Given the description of an element on the screen output the (x, y) to click on. 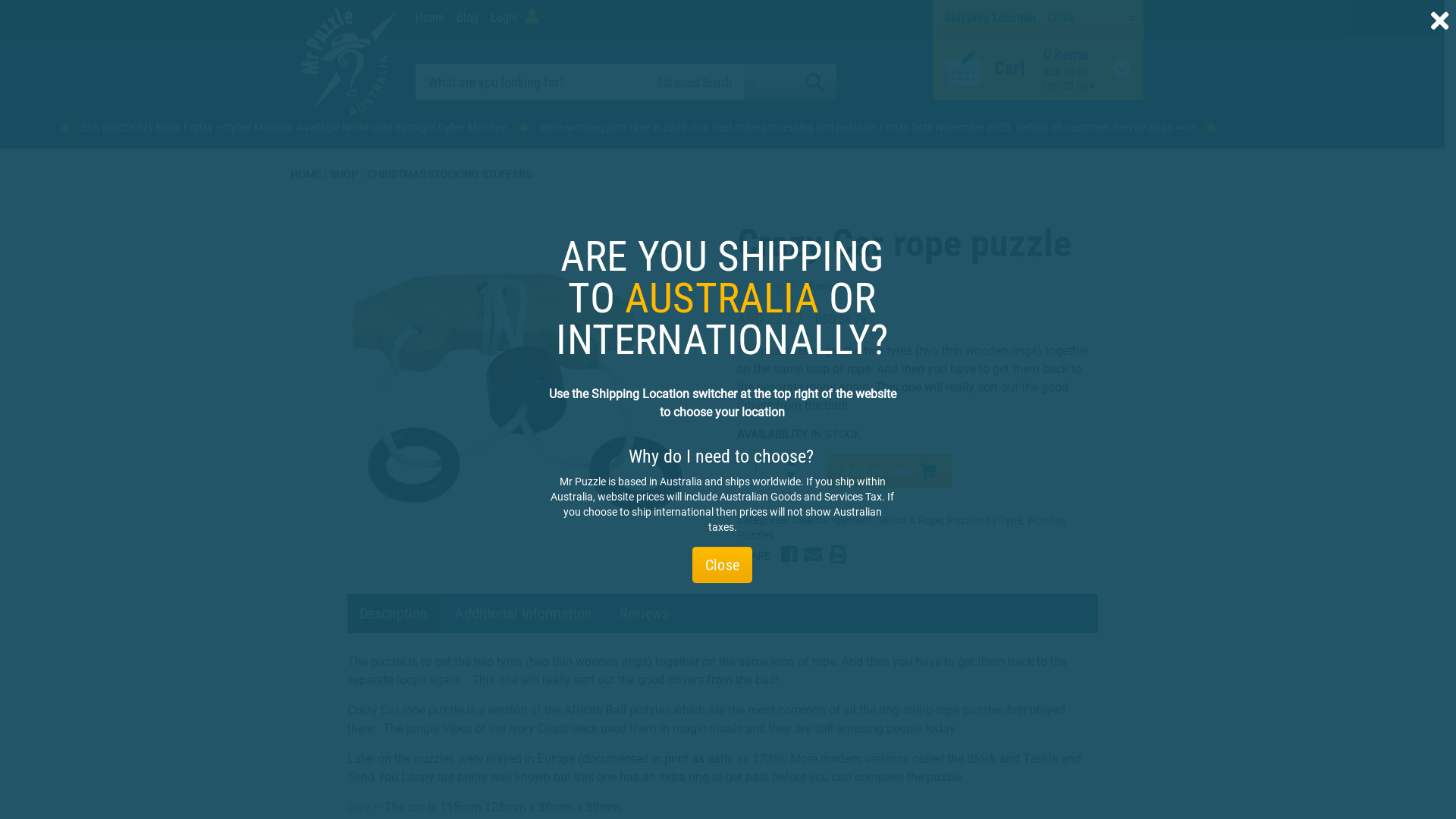
SHOP Element type: text (343, 174)
Home Element type: text (432, 18)
Login Element type: text (513, 18)
4182 Element type: hover (516, 391)
Reviews Element type: text (643, 613)
Additional Information Element type: text (523, 613)
Add to cart Element type: text (889, 471)
CHRISTMAS STOCKING STUFFERS Element type: text (449, 174)
Advanced Search Element type: text (693, 81)
Close Element type: text (722, 564)
Disentanglement - Wood & Rope Element type: text (867, 520)
Cart Element type: text (1012, 68)
HOME Element type: text (304, 174)
Search Element type: text (789, 81)
Blog Element type: text (467, 18)
Puzzles by Type Element type: text (984, 520)
Wooden Puzzles Element type: text (901, 527)
Qty Element type: hover (755, 468)
Description Element type: text (393, 613)
